Given the description of an element on the screen output the (x, y) to click on. 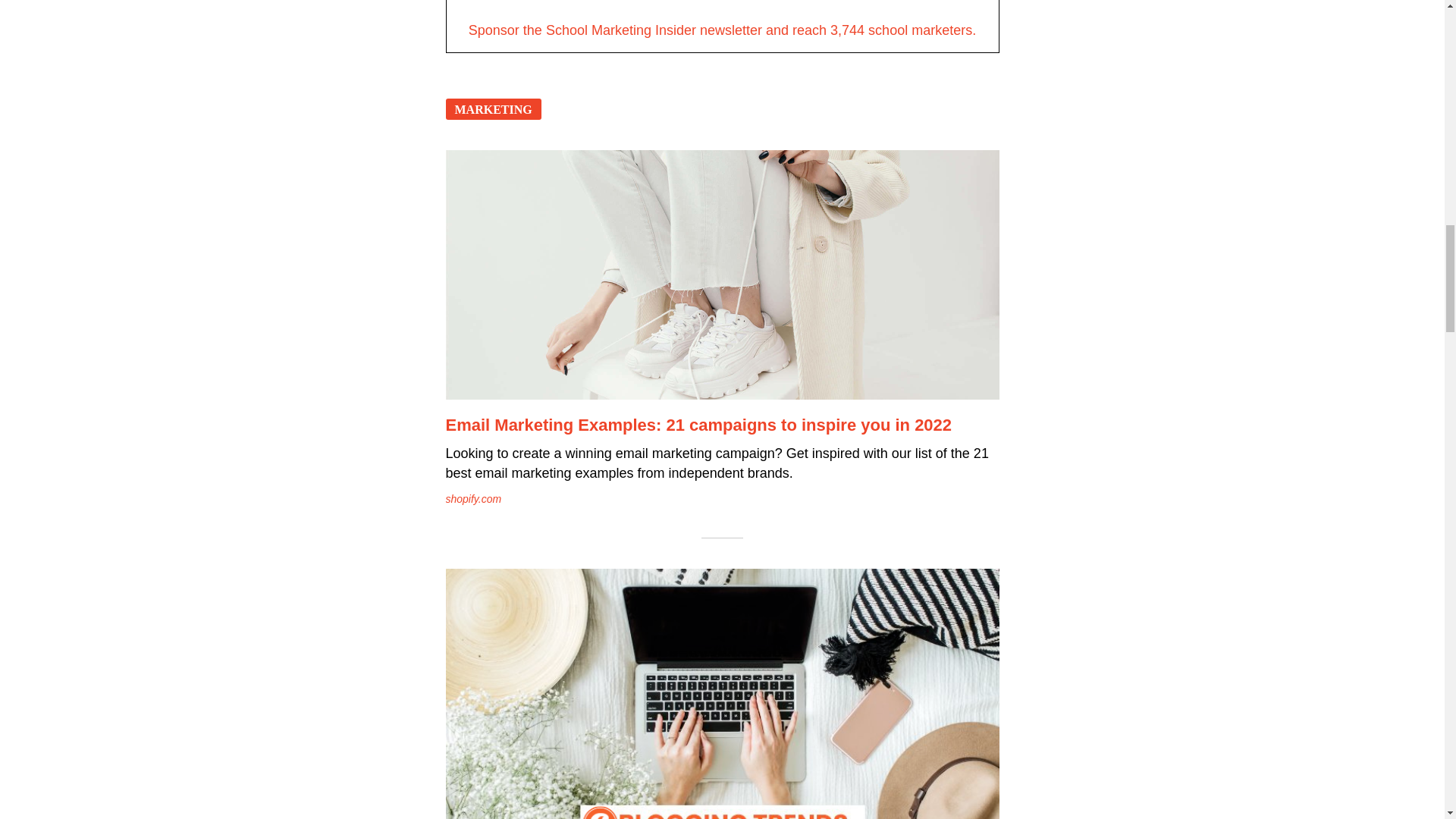
shopify.com (473, 499)
